Given the description of an element on the screen output the (x, y) to click on. 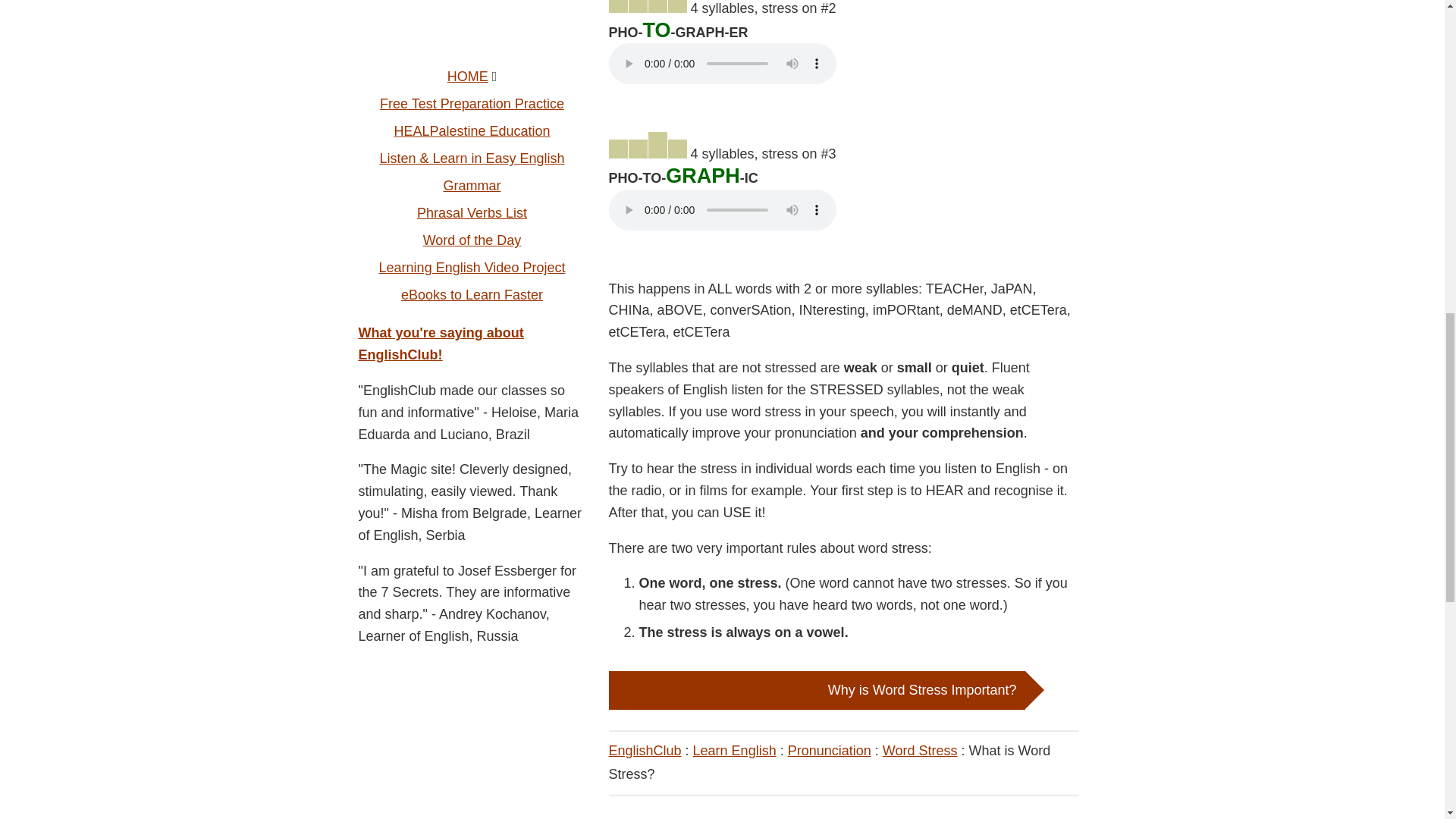
EnglishClub (644, 750)
Advertisement (471, 24)
EnglishClub (644, 750)
